Given the description of an element on the screen output the (x, y) to click on. 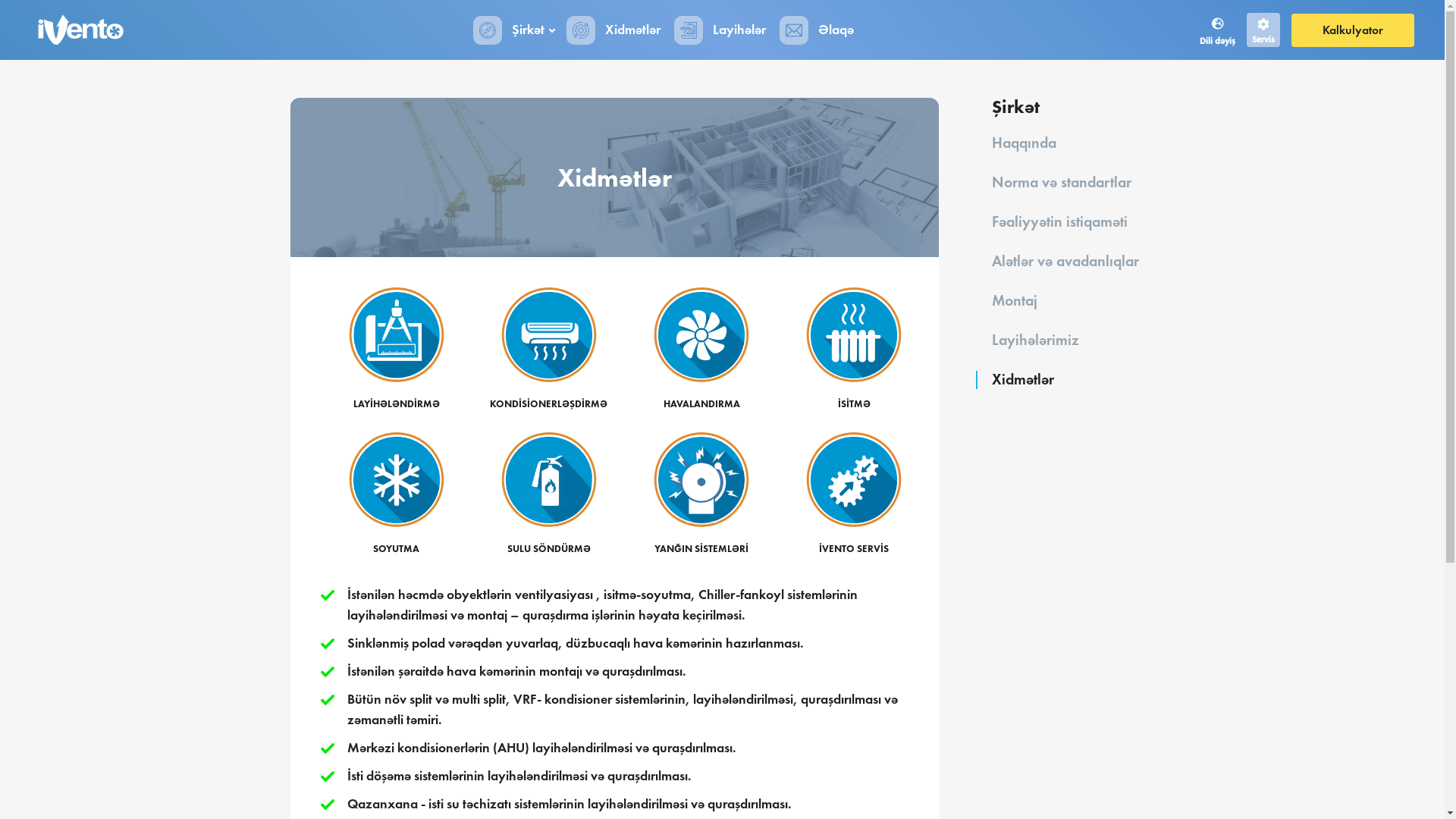
Kalkulyator Element type: text (1352, 30)
Montaj Element type: text (1014, 300)
Servis Element type: text (1263, 29)
SOYUTMA Element type: text (395, 493)
HAVALANDIRMA Element type: text (701, 348)
